Given the description of an element on the screen output the (x, y) to click on. 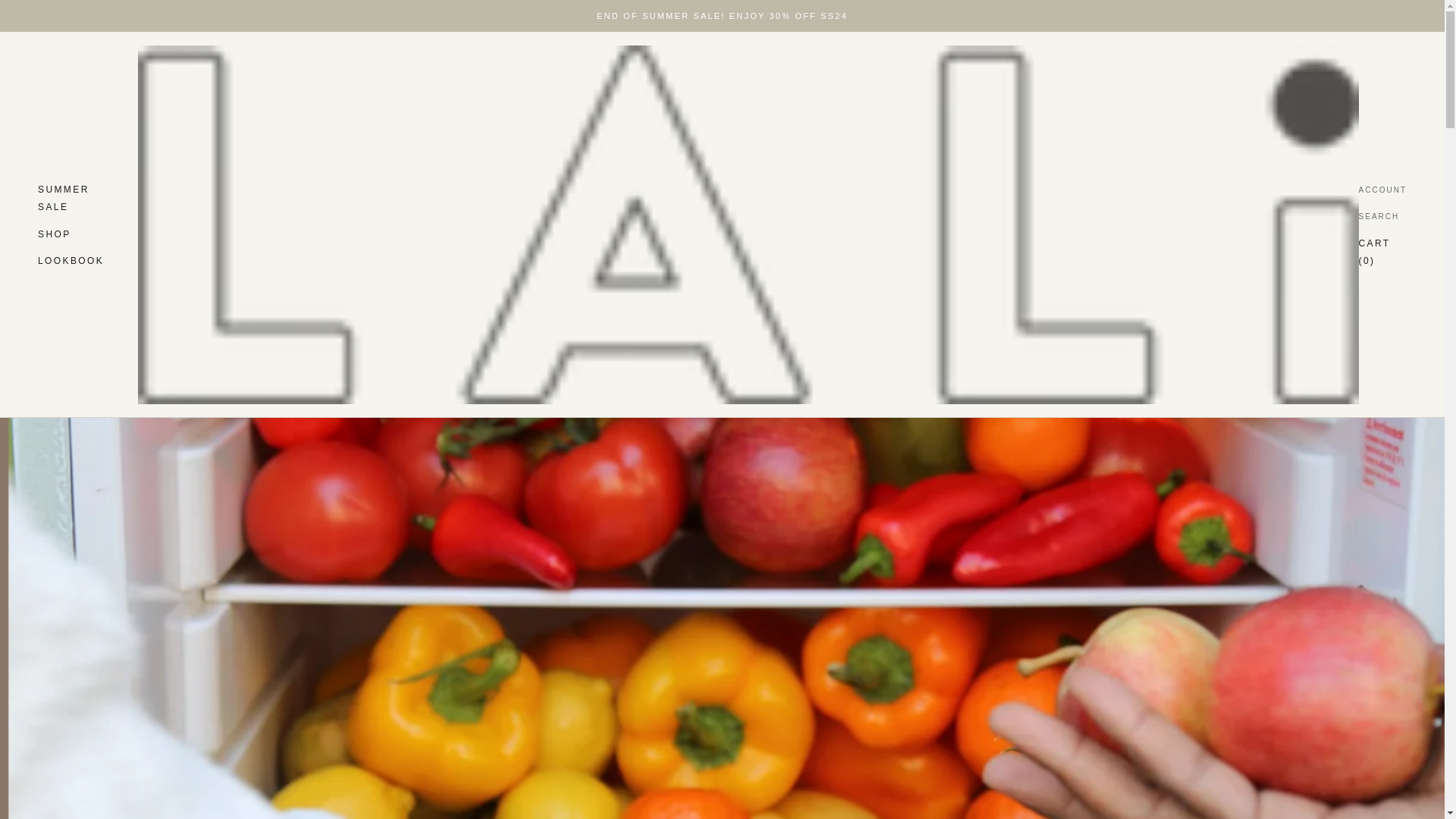
SHOP (62, 198)
